Given the description of an element on the screen output the (x, y) to click on. 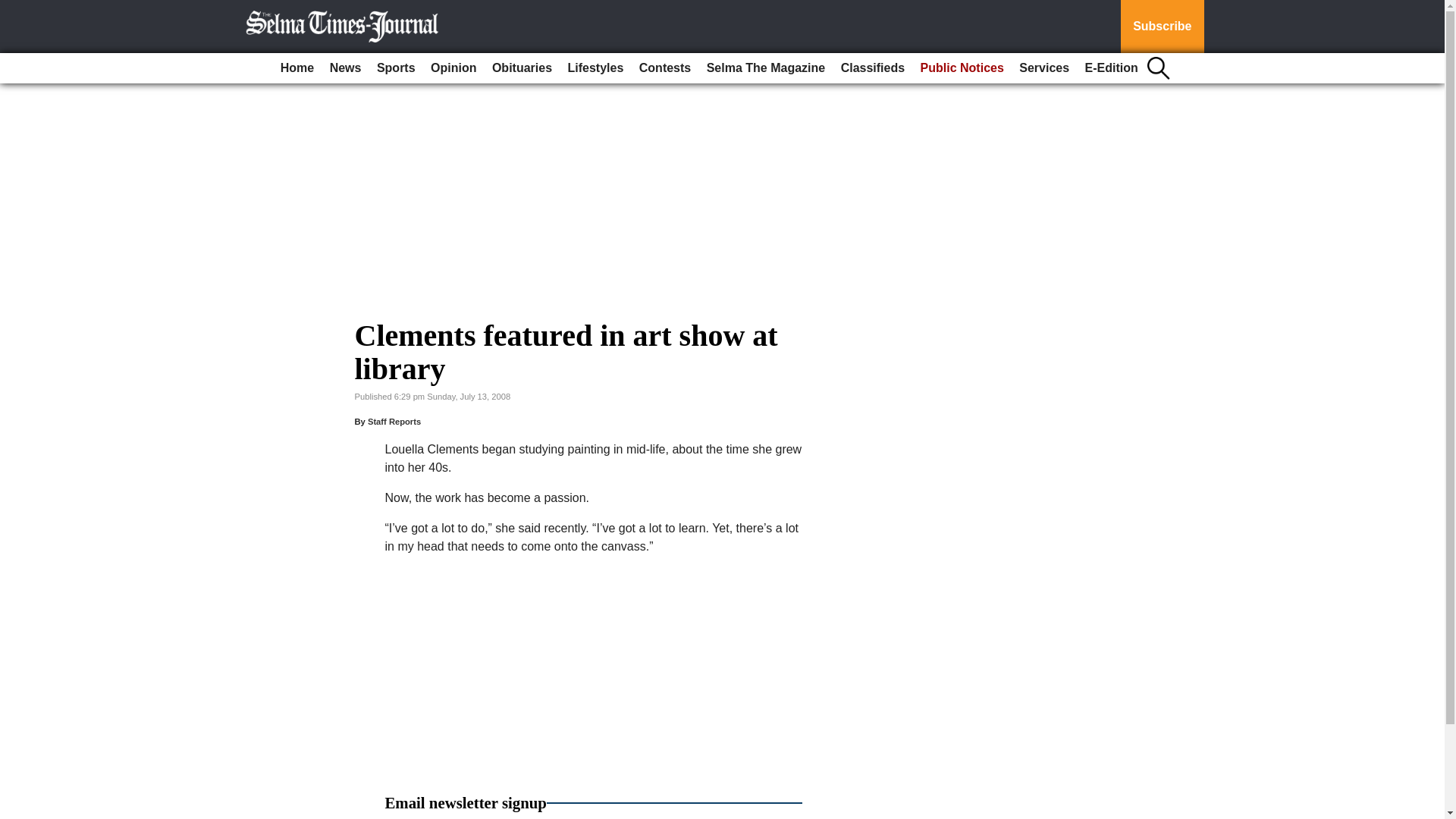
Services (1044, 68)
News (345, 68)
Sports (396, 68)
Public Notices (962, 68)
Selma The Magazine (765, 68)
Subscribe (1162, 26)
Staff Reports (394, 420)
Opinion (453, 68)
Go (13, 9)
Classifieds (872, 68)
E-Edition (1111, 68)
Home (297, 68)
Contests (665, 68)
Lifestyles (596, 68)
Obituaries (521, 68)
